Given the description of an element on the screen output the (x, y) to click on. 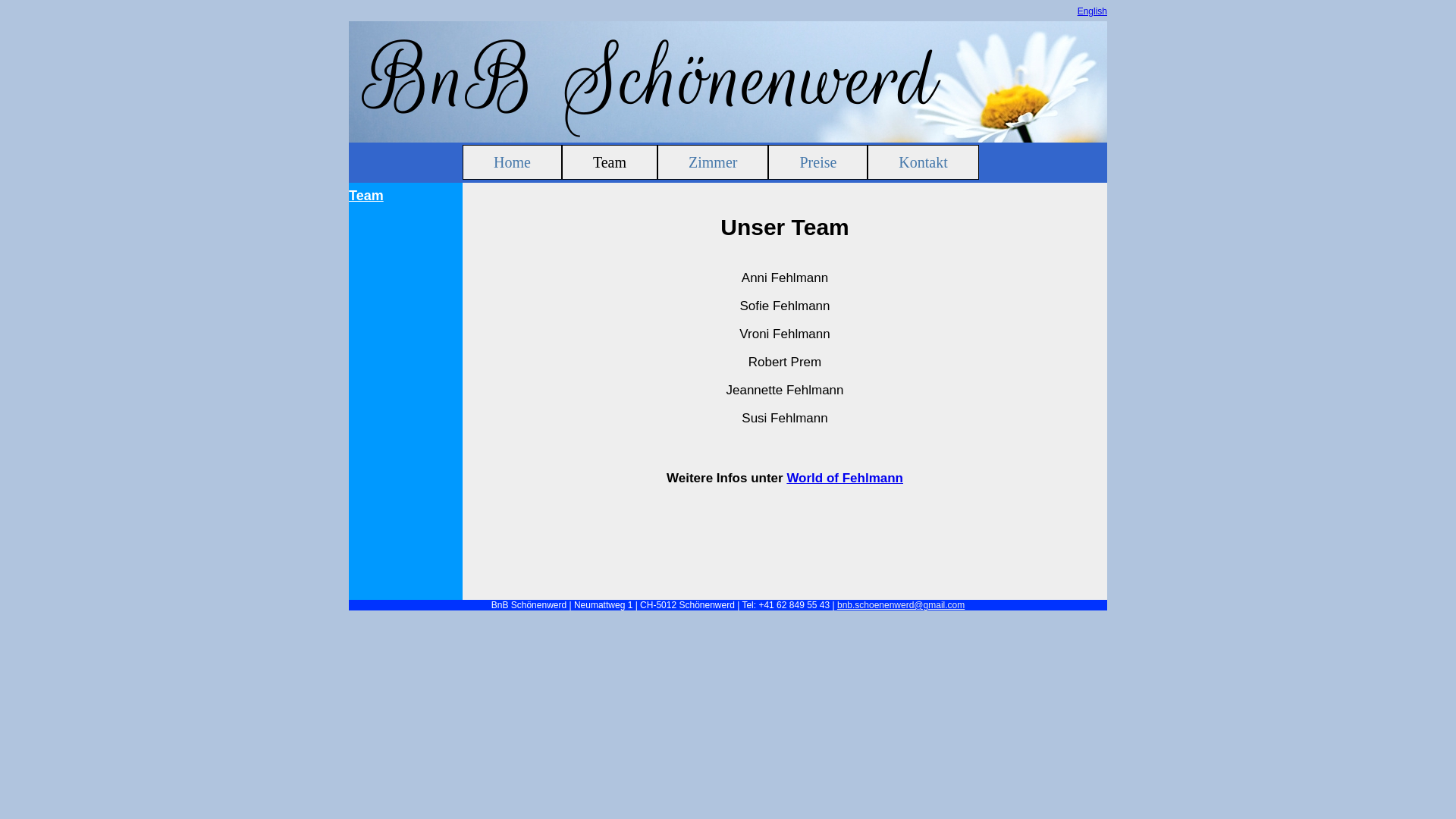
Zimmer Element type: text (712, 161)
Home Element type: text (511, 161)
World of Fehlmann Element type: text (844, 477)
Preise Element type: text (817, 161)
bnb.schoenenwerd@gmail.com Element type: text (900, 604)
Team Element type: text (609, 161)
Kontakt Element type: text (922, 161)
Team Element type: text (403, 195)
English Element type: text (1092, 11)
